Given the description of an element on the screen output the (x, y) to click on. 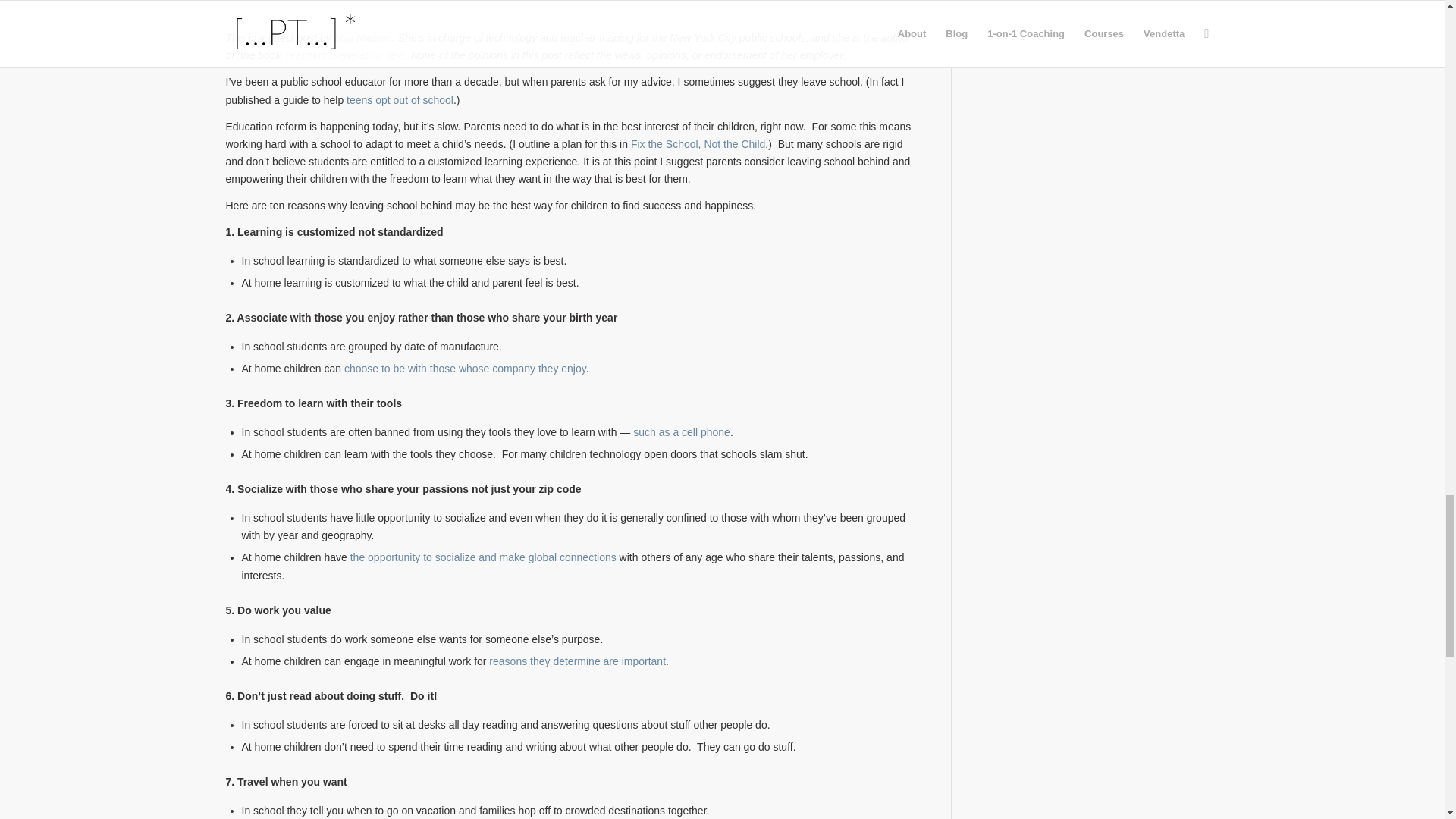
Lisa Nielsen (362, 37)
choose to be with those whose company they enjoy (464, 368)
Teaching Generation Text (343, 55)
such as a cell phone (681, 431)
Fix the School, Not the Child (697, 143)
the opportunity to socialize and make global connections (482, 557)
teens opt out of school (399, 100)
